Given the description of an element on the screen output the (x, y) to click on. 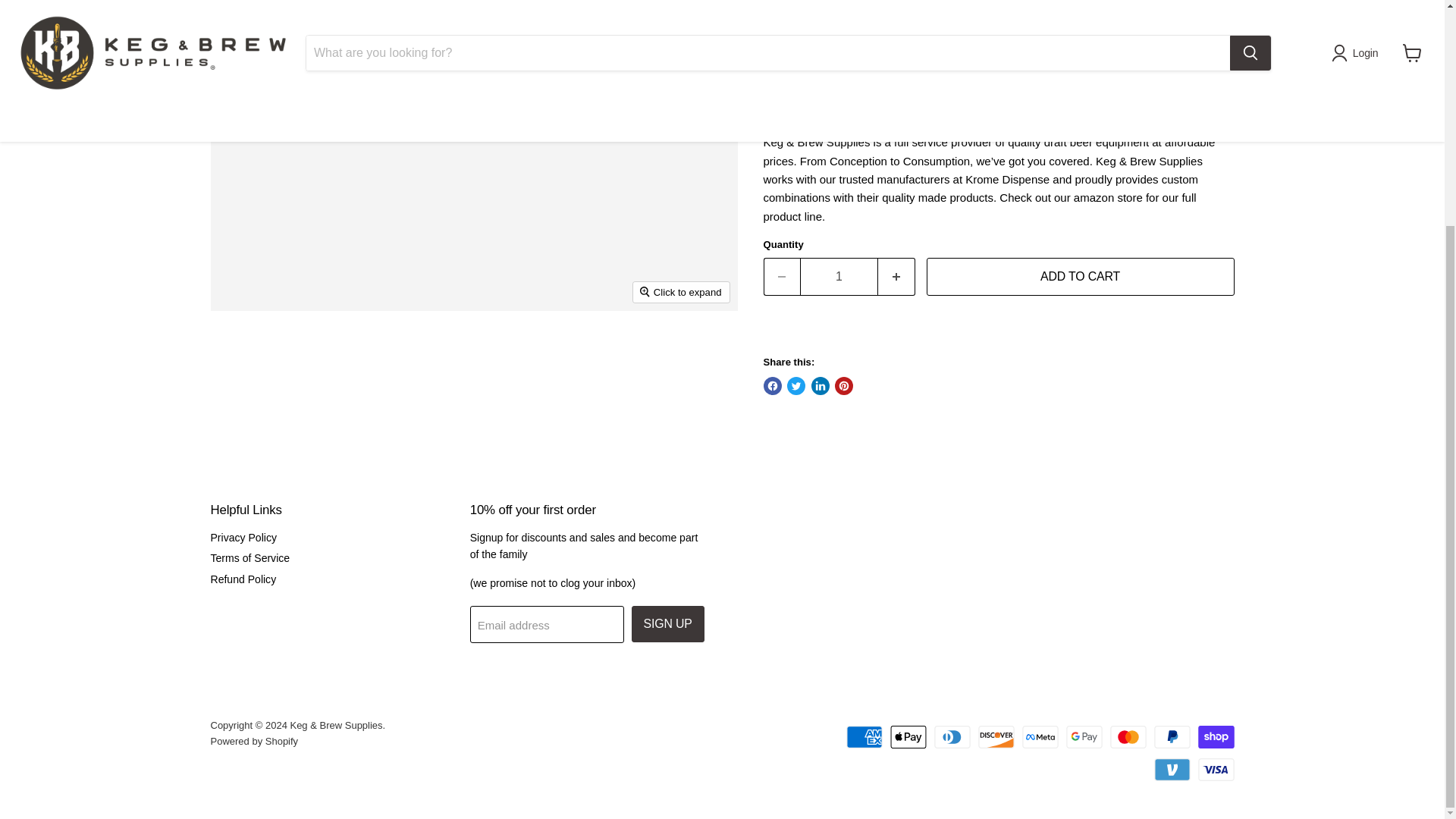
1 (838, 276)
Meta Pay (1040, 736)
Shop Pay (1216, 736)
Discover (996, 736)
Google Pay (1083, 736)
Apple Pay (907, 736)
PayPal (1172, 736)
American Express (863, 736)
Diners Club (952, 736)
Mastercard (1128, 736)
